Given the description of an element on the screen output the (x, y) to click on. 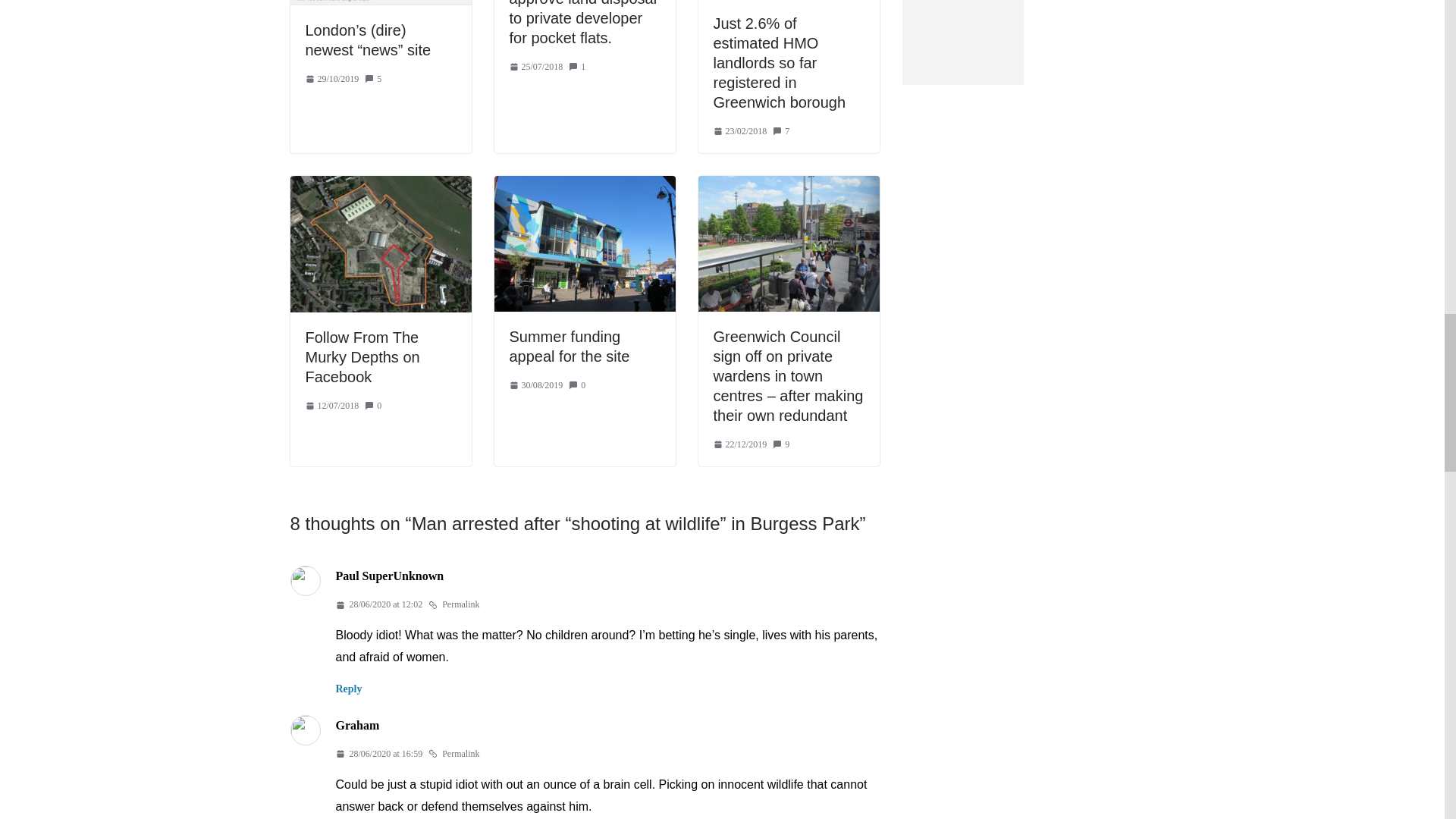
Summer funding appeal for the site (569, 346)
Follow From The Murky Depths on Facebook (361, 356)
16:15 (331, 78)
18:27 (536, 66)
